Given the description of an element on the screen output the (x, y) to click on. 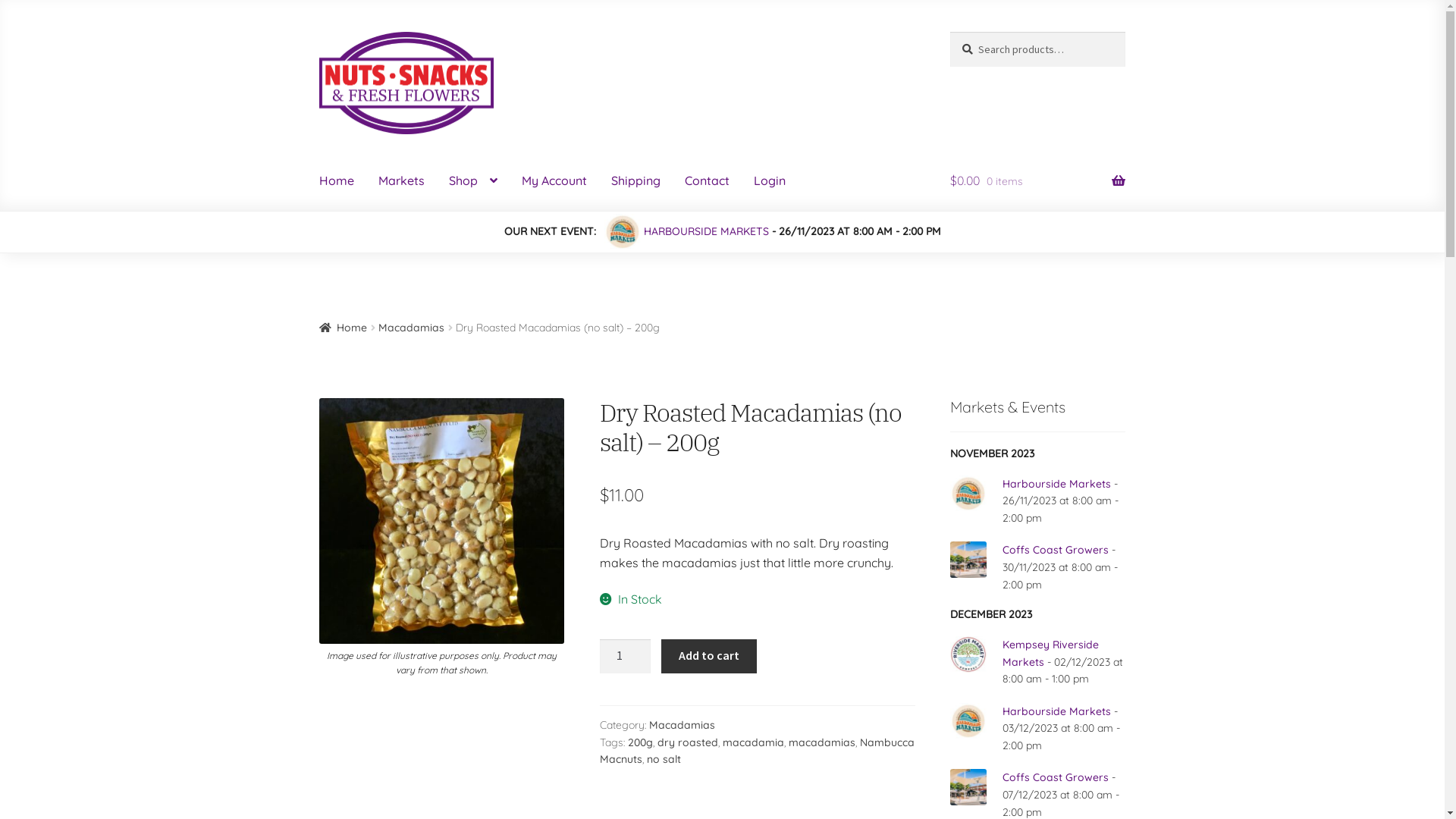
Harbourside Markets Element type: text (1056, 483)
My Account Element type: text (554, 180)
dry roasted Element type: text (687, 742)
Harbourside Markets 2 Element type: hover (968, 493)
Home Element type: text (336, 180)
Home Element type: text (343, 327)
Coffs Coast Growers 6 Element type: hover (968, 786)
Search Element type: text (949, 31)
Macadamias Element type: text (682, 724)
Login Element type: text (769, 180)
Contact Element type: text (706, 180)
HARBOURSIDE MARKETS Element type: text (705, 230)
macadamia Element type: text (753, 742)
Macadamias Element type: text (411, 327)
no salt Element type: text (663, 758)
Add to cart Element type: text (708, 656)
200g Element type: text (639, 742)
Coffs Coast Growers 3 Element type: hover (968, 559)
Nambucca Macnuts Element type: text (756, 750)
Harbourside Markets Element type: text (1056, 711)
Coffs Coast Growers Element type: text (1055, 549)
Shipping Element type: text (635, 180)
Kempsey Riverside Markets 4 Element type: hover (968, 654)
Harbourside Markets 5 Element type: hover (968, 720)
Shop Element type: text (472, 180)
Dry Roasted (NO SALT) Macadamias - 200g Element type: hover (441, 520)
Markets Element type: text (401, 180)
Kempsey Riverside Markets Element type: text (1050, 652)
Coffs Coast Growers Element type: text (1055, 777)
Harbourside Markets 1 Element type: hover (621, 231)
Skip to navigation Element type: text (318, 31)
macadamias Element type: text (821, 742)
$0.00 0 items Element type: text (1037, 180)
